Given the description of an element on the screen output the (x, y) to click on. 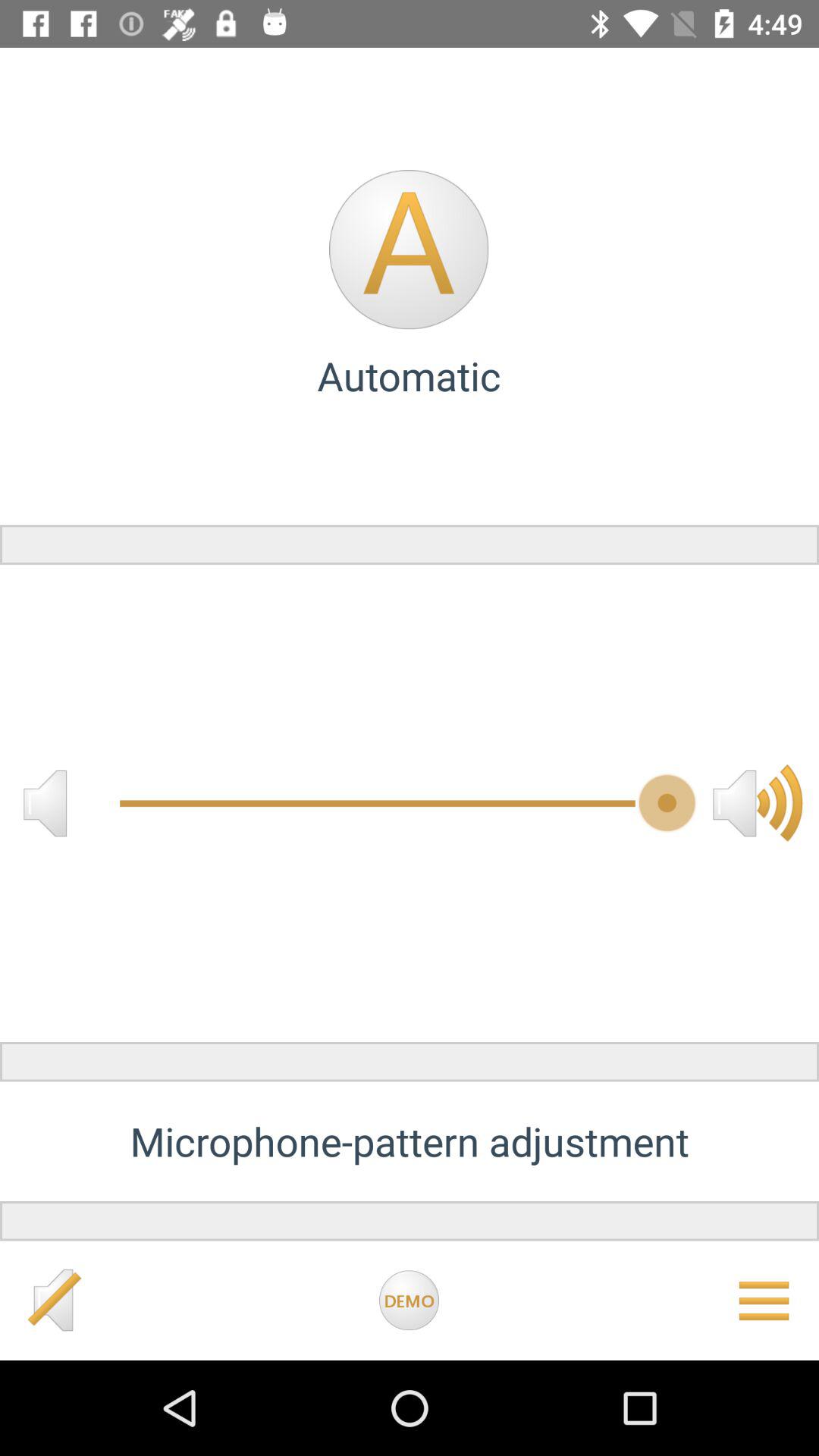
launch icon at the bottom right corner (763, 1300)
